Given the description of an element on the screen output the (x, y) to click on. 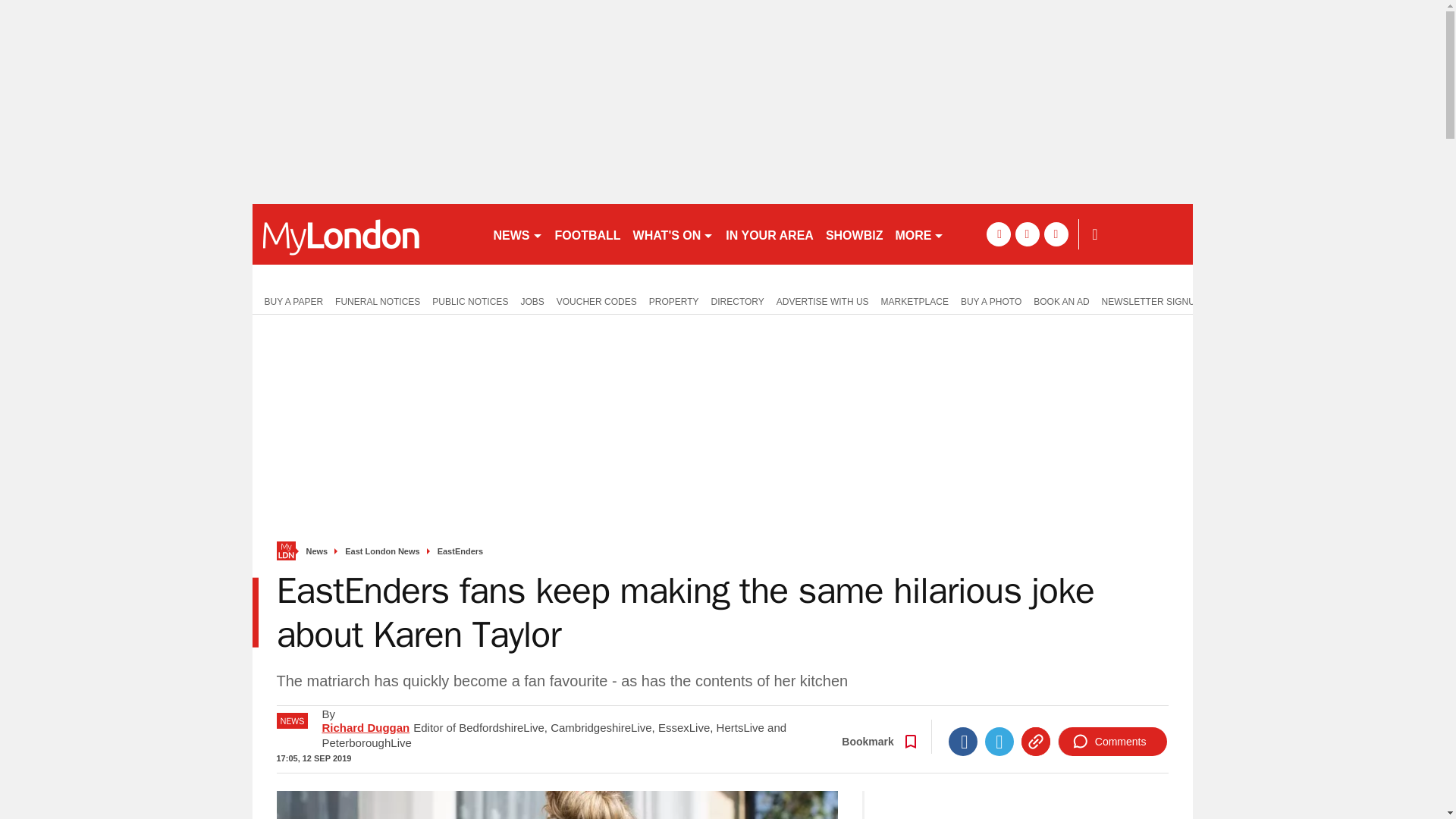
getwestlondon (365, 233)
facebook (997, 233)
Facebook (962, 741)
MORE (919, 233)
IN YOUR AREA (769, 233)
Twitter (999, 741)
NEWS (517, 233)
WHAT'S ON (673, 233)
SHOWBIZ (854, 233)
Comments (1112, 741)
instagram (1055, 233)
twitter (1026, 233)
FOOTBALL (587, 233)
